Given the description of an element on the screen output the (x, y) to click on. 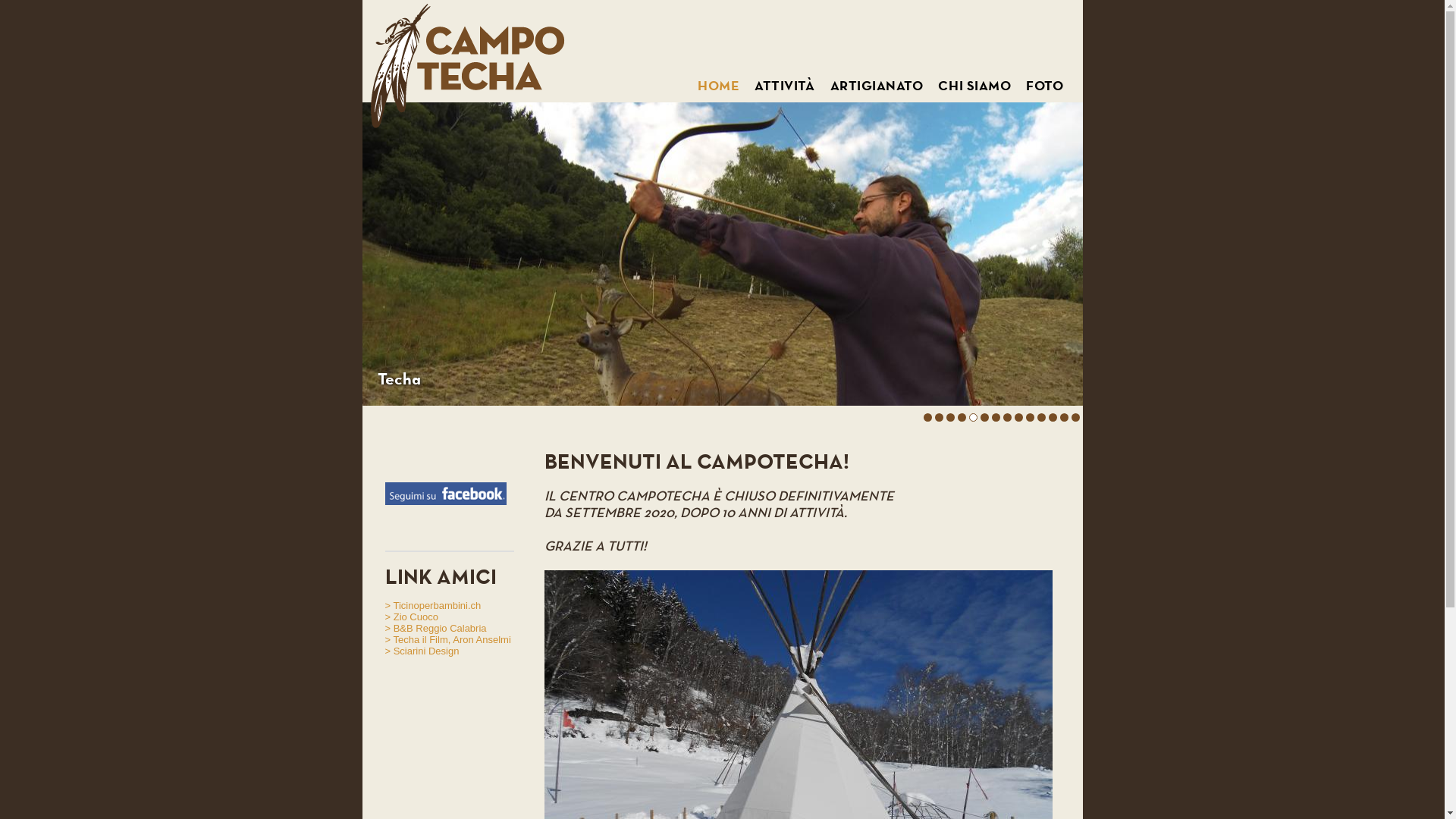
12 Element type: text (1054, 419)
11 Element type: text (1043, 419)
4 Element type: text (961, 419)
> Zio Cuoco Element type: text (411, 616)
7 Element type: text (995, 419)
> Ticinoperbambini.ch Element type: text (433, 605)
> Techa il Film, Aron Anselmi Element type: text (448, 639)
ARTIGIANATO Element type: text (875, 86)
3 Element type: text (950, 419)
8 Element type: text (1007, 419)
> Sciarini Design Element type: text (422, 650)
13 Element type: text (1066, 419)
6 Element type: text (984, 419)
5 Element type: text (972, 419)
HOME Element type: text (718, 86)
FOTO Element type: text (1044, 86)
2 Element type: text (938, 420)
14 Element type: text (1076, 419)
CHI SIAMO Element type: text (974, 86)
> B&B Reggio Calabria Element type: text (435, 627)
1 Element type: text (927, 419)
10 Element type: text (1031, 419)
9 Element type: text (1018, 419)
